Given the description of an element on the screen output the (x, y) to click on. 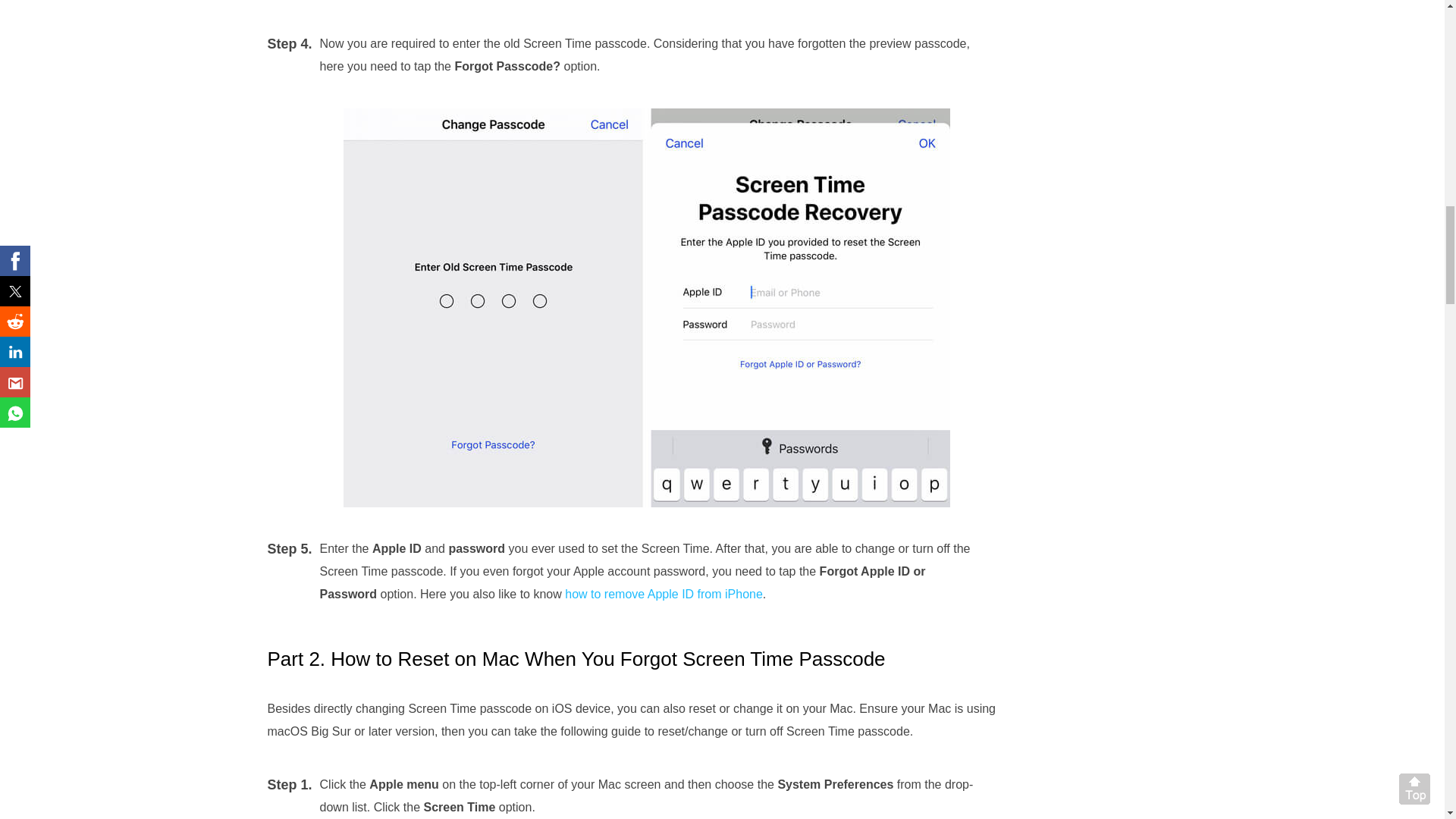
how to remove Apple ID from iPhone (663, 594)
